Given the description of an element on the screen output the (x, y) to click on. 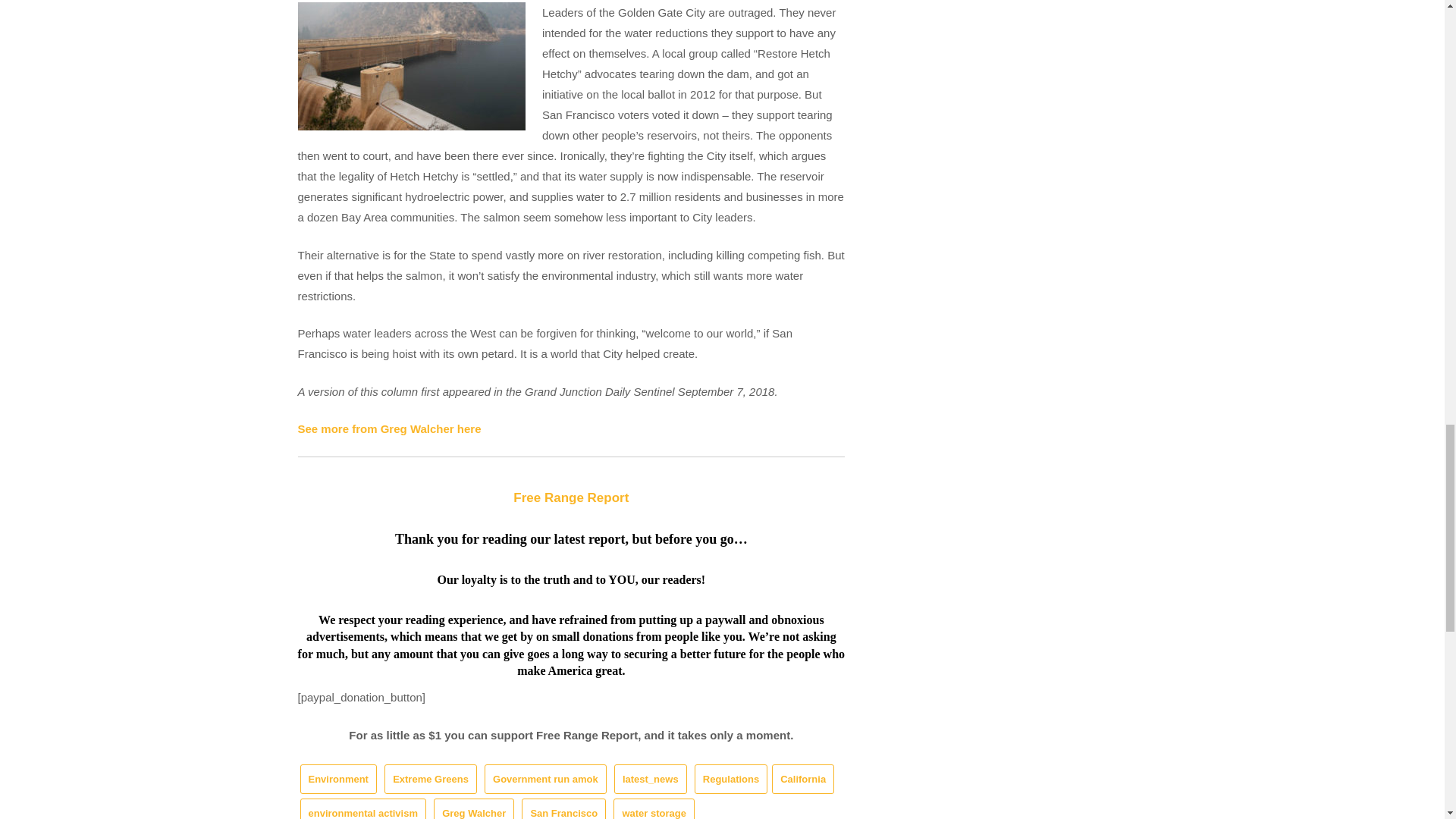
California (802, 778)
environmental activism (362, 808)
Government run amok (545, 778)
Environment (338, 778)
See more from Greg Walcher here (388, 428)
Extreme Greens (430, 778)
Regulations (730, 778)
Greg Walcher (473, 808)
water storage (653, 808)
San Francisco (563, 808)
Free Range Report (570, 497)
